Given the description of an element on the screen output the (x, y) to click on. 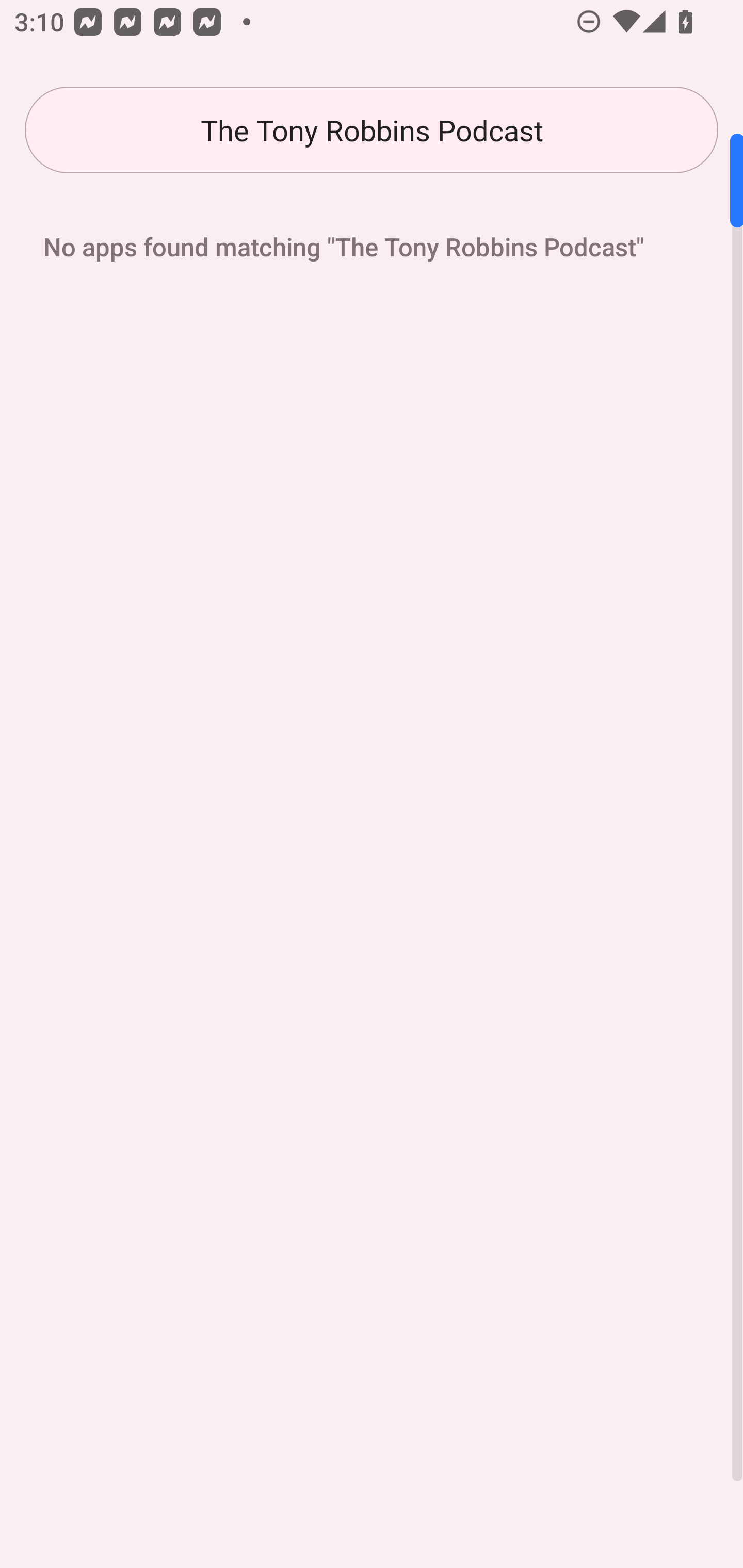
The Tony Robbins Podcast (371, 130)
